Given the description of an element on the screen output the (x, y) to click on. 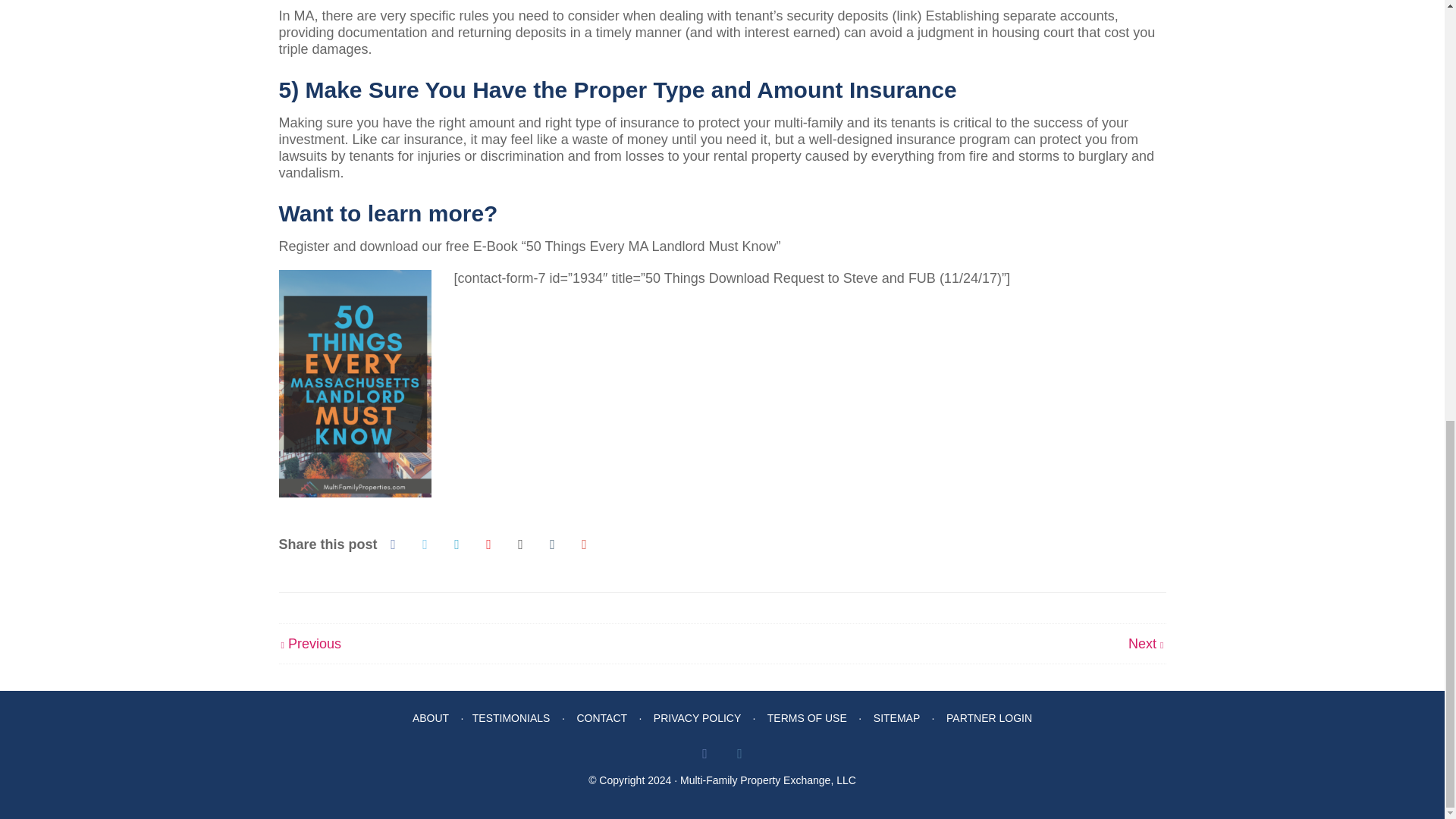
ABOUT (430, 717)
TESTIMONIALS (510, 717)
CONTACT (601, 717)
PRIVACY POLICY (697, 717)
